Given the description of an element on the screen output the (x, y) to click on. 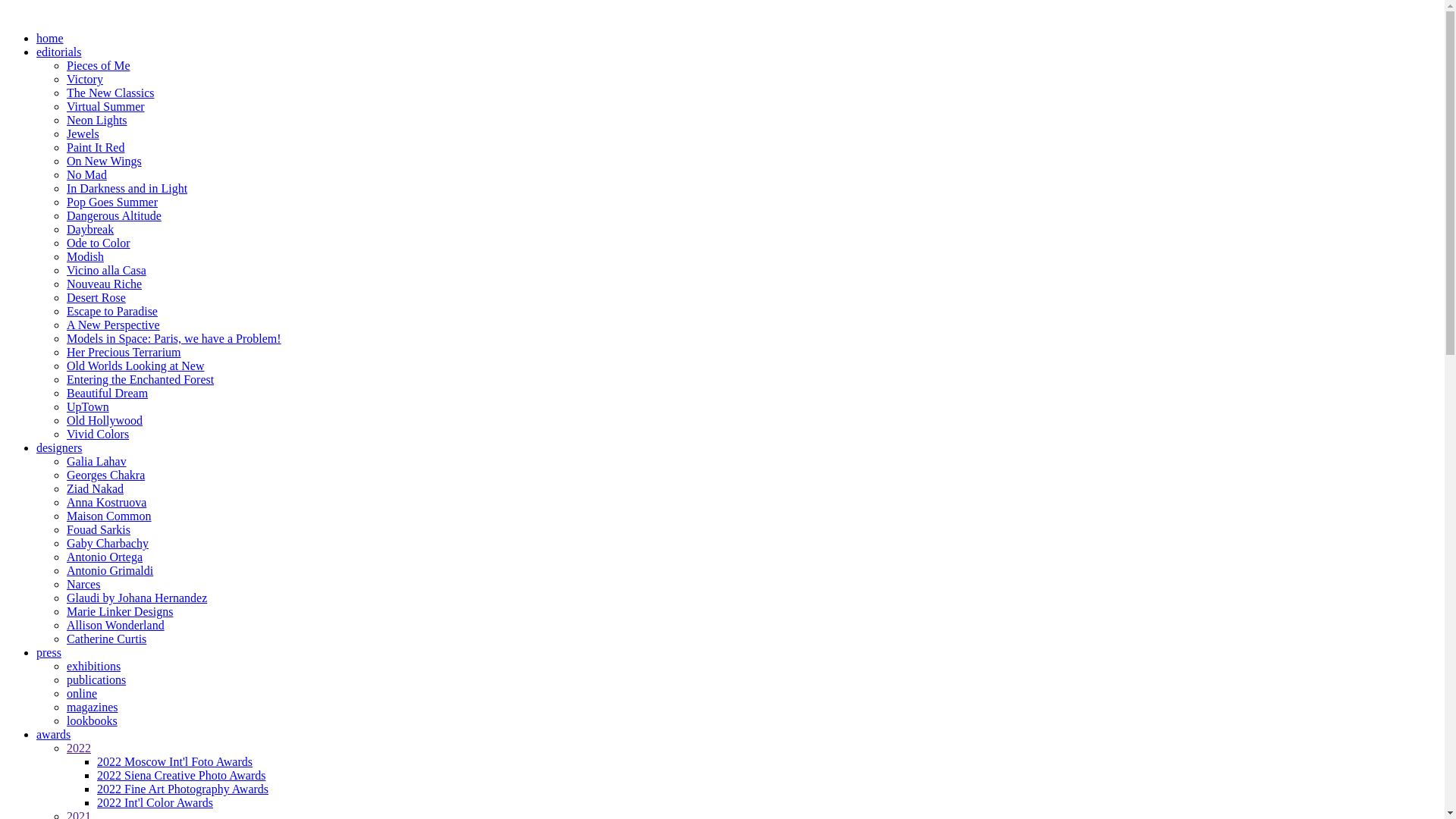
Ode to Color Element type: text (98, 242)
editorials Element type: text (58, 51)
Fouad Sarkis Element type: text (98, 529)
No Mad Element type: text (86, 174)
Georges Chakra Element type: text (105, 474)
Victory Element type: text (84, 78)
Allison Wonderland Element type: text (115, 624)
Escape to Paradise Element type: text (111, 310)
magazines Element type: text (92, 706)
Catherine Curtis Element type: text (106, 638)
Maison Common Element type: text (108, 515)
Antonio Ortega Element type: text (104, 556)
The New Classics Element type: text (110, 92)
Glaudi by Johana Hernandez Element type: text (136, 597)
Entering the Enchanted Forest Element type: text (139, 379)
Desert Rose Element type: text (95, 297)
Daybreak Element type: text (89, 228)
designers Element type: text (58, 447)
Modish Element type: text (84, 256)
A New Perspective Element type: text (113, 324)
Paint It Red Element type: text (95, 147)
Nouveau Riche Element type: text (103, 283)
online Element type: text (81, 693)
Marie Linker Designs Element type: text (119, 611)
2022 Element type: text (78, 747)
In Darkness and in Light Element type: text (126, 188)
Pop Goes Summer Element type: text (111, 201)
press Element type: text (48, 652)
awards Element type: text (53, 734)
Models in Space: Paris, we have a Problem! Element type: text (173, 338)
Jewels Element type: text (82, 133)
Pieces of Me Element type: text (98, 65)
Vivid Colors Element type: text (97, 433)
2022 Fine Art Photography Awards Element type: text (182, 788)
Old Hollywood Element type: text (104, 420)
Vicino alla Casa Element type: text (106, 269)
Gaby Charbachy Element type: text (107, 542)
Dangerous Altitude Element type: text (113, 215)
2022 Moscow Int'l Foto Awards Element type: text (174, 761)
home Element type: text (49, 37)
Anna Kostruova Element type: text (106, 501)
Narces Element type: text (83, 583)
Beautiful Dream Element type: text (106, 392)
publications Element type: text (95, 679)
Neon Lights Element type: text (96, 119)
Ziad Nakad Element type: text (94, 488)
Virtual Summer Element type: text (105, 106)
Her Precious Terrarium Element type: text (123, 351)
2022 Siena Creative Photo Awards Element type: text (181, 774)
lookbooks Element type: text (91, 720)
exhibitions Element type: text (93, 665)
Galia Lahav Element type: text (96, 461)
Antonio Grimaldi Element type: text (109, 570)
UpTown Element type: text (87, 406)
On New Wings Element type: text (103, 160)
2022 Int'l Color Awards Element type: text (155, 802)
Old Worlds Looking at New Element type: text (135, 365)
